Given the description of an element on the screen output the (x, y) to click on. 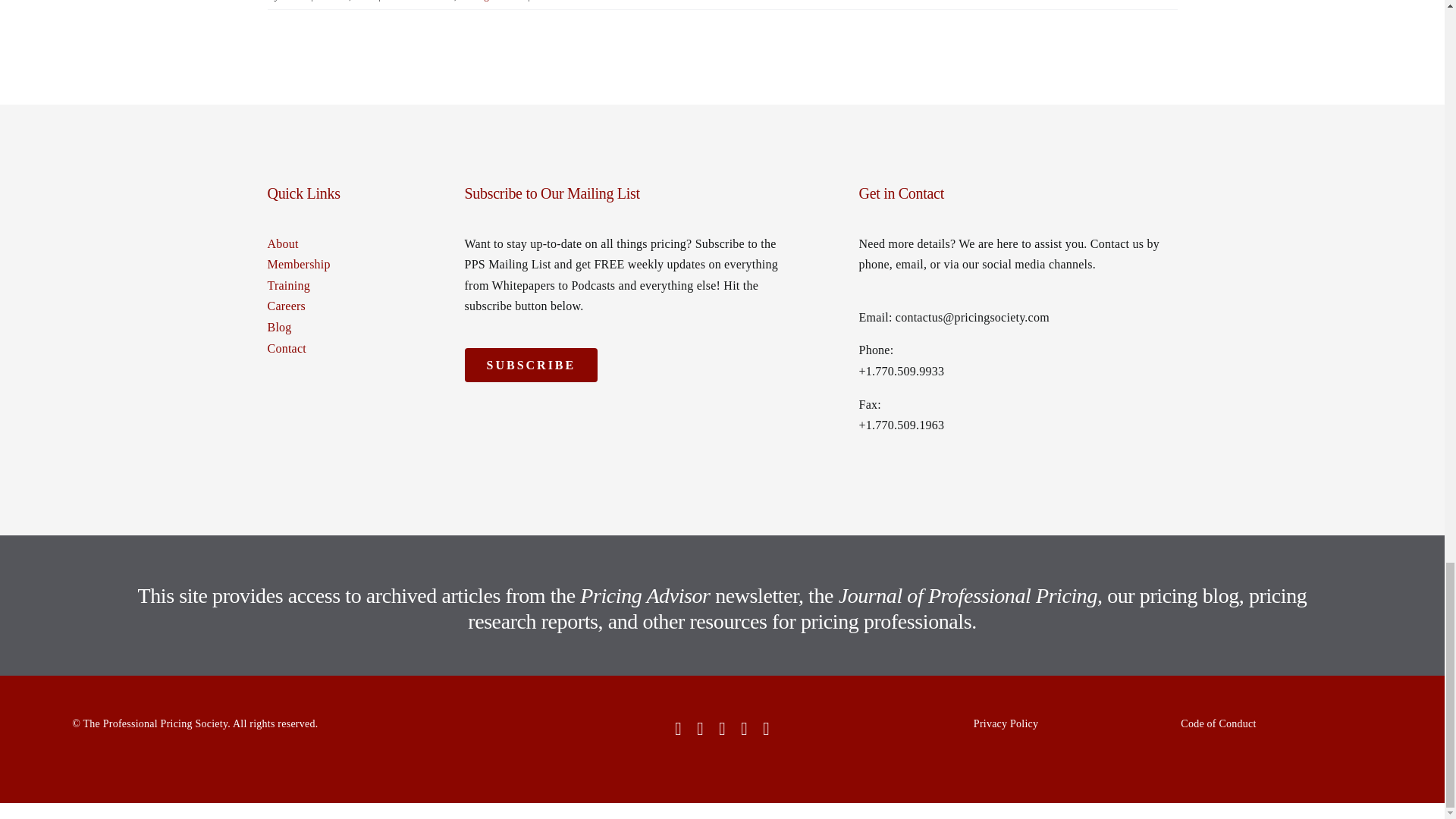
Posts by admin (294, 0)
